Given the description of an element on the screen output the (x, y) to click on. 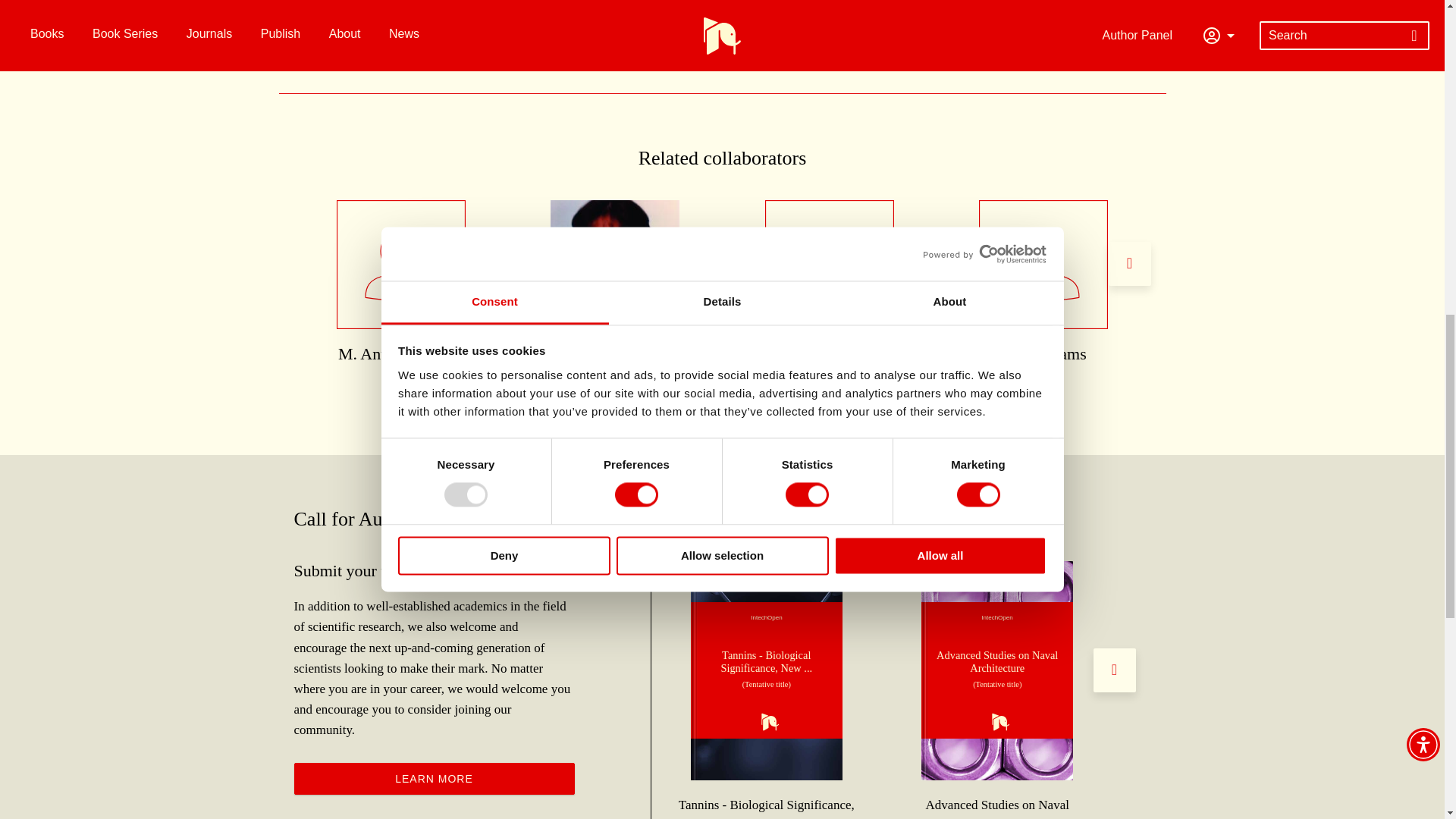
IntechOpen (766, 669)
IntechOpen (997, 669)
